Given the description of an element on the screen output the (x, y) to click on. 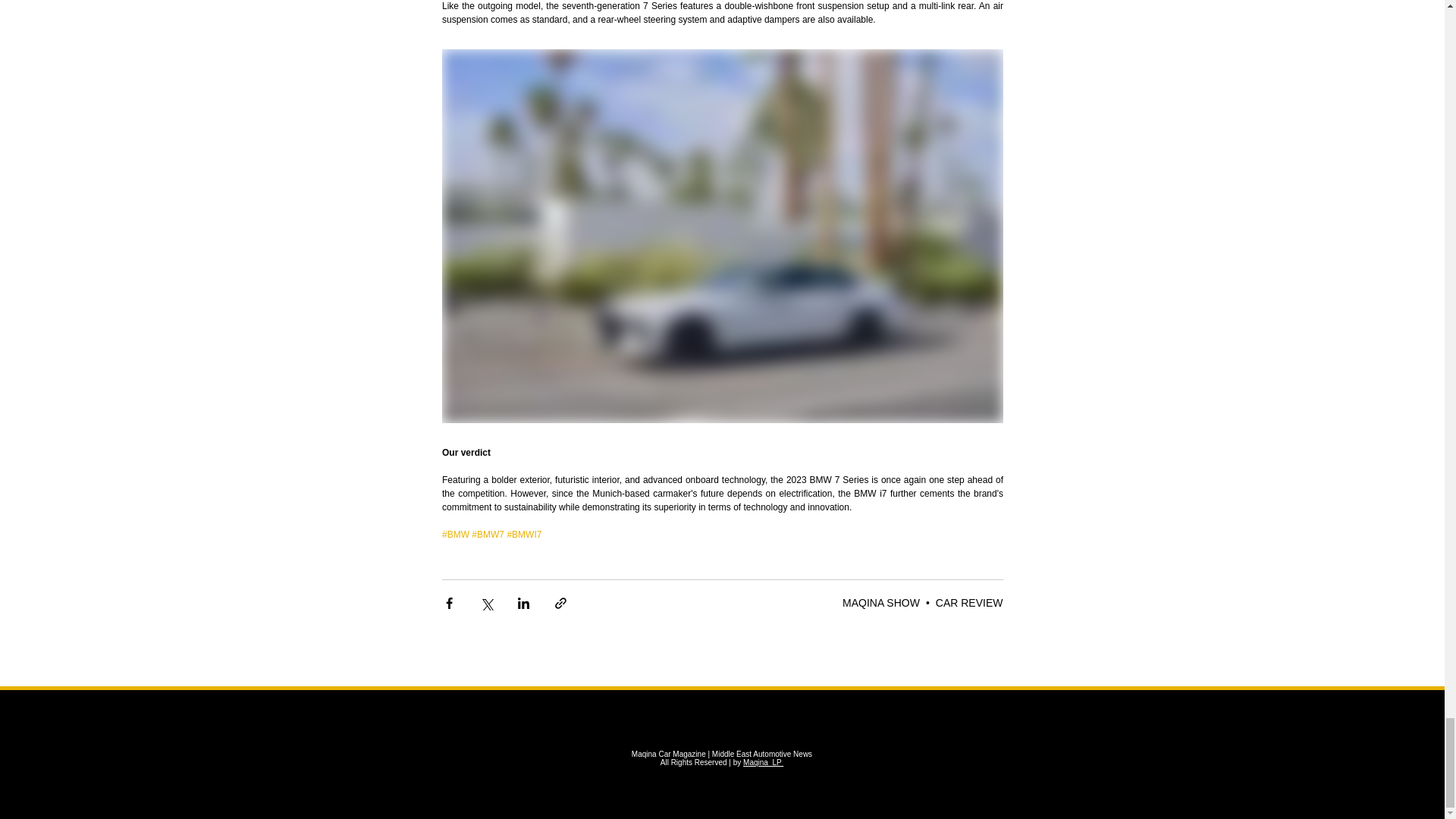
MAQINA SHOW (881, 603)
Maqina  LP  (762, 762)
CAR REVIEW (969, 603)
